Given the description of an element on the screen output the (x, y) to click on. 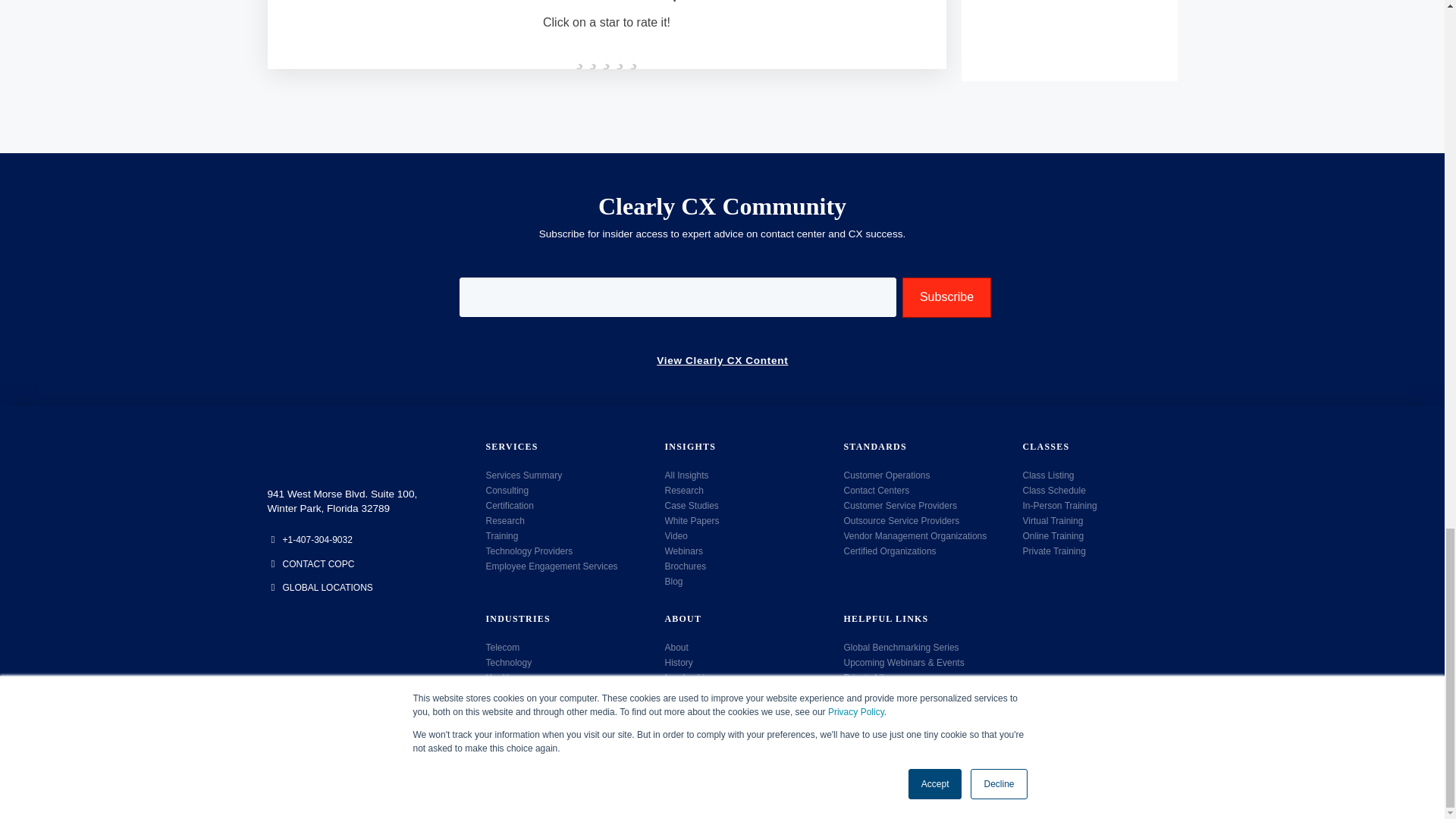
Subscribe (946, 297)
